Given the description of an element on the screen output the (x, y) to click on. 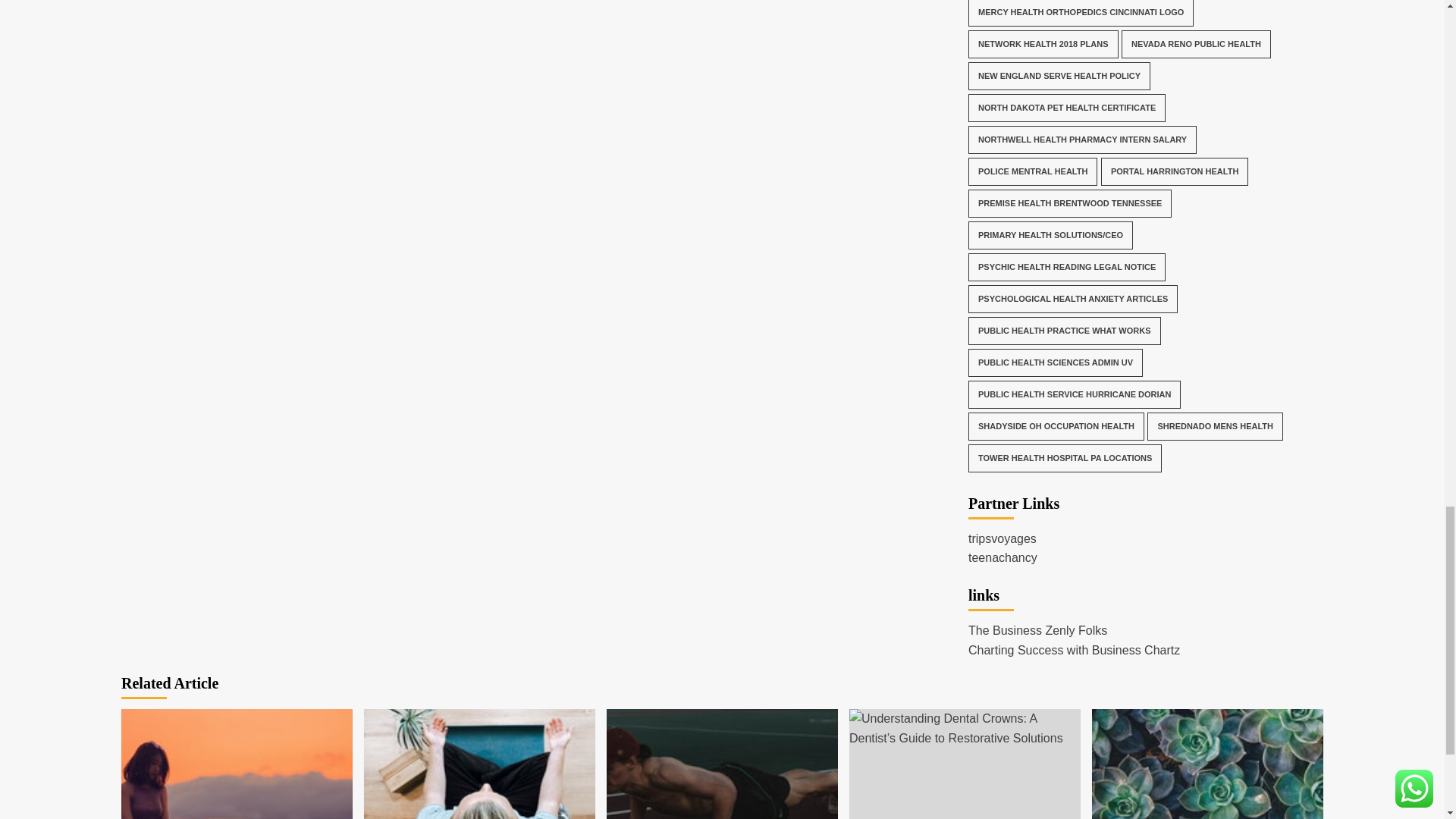
3 Tax Lessons Learned From The Pandemic (236, 764)
